Given the description of an element on the screen output the (x, y) to click on. 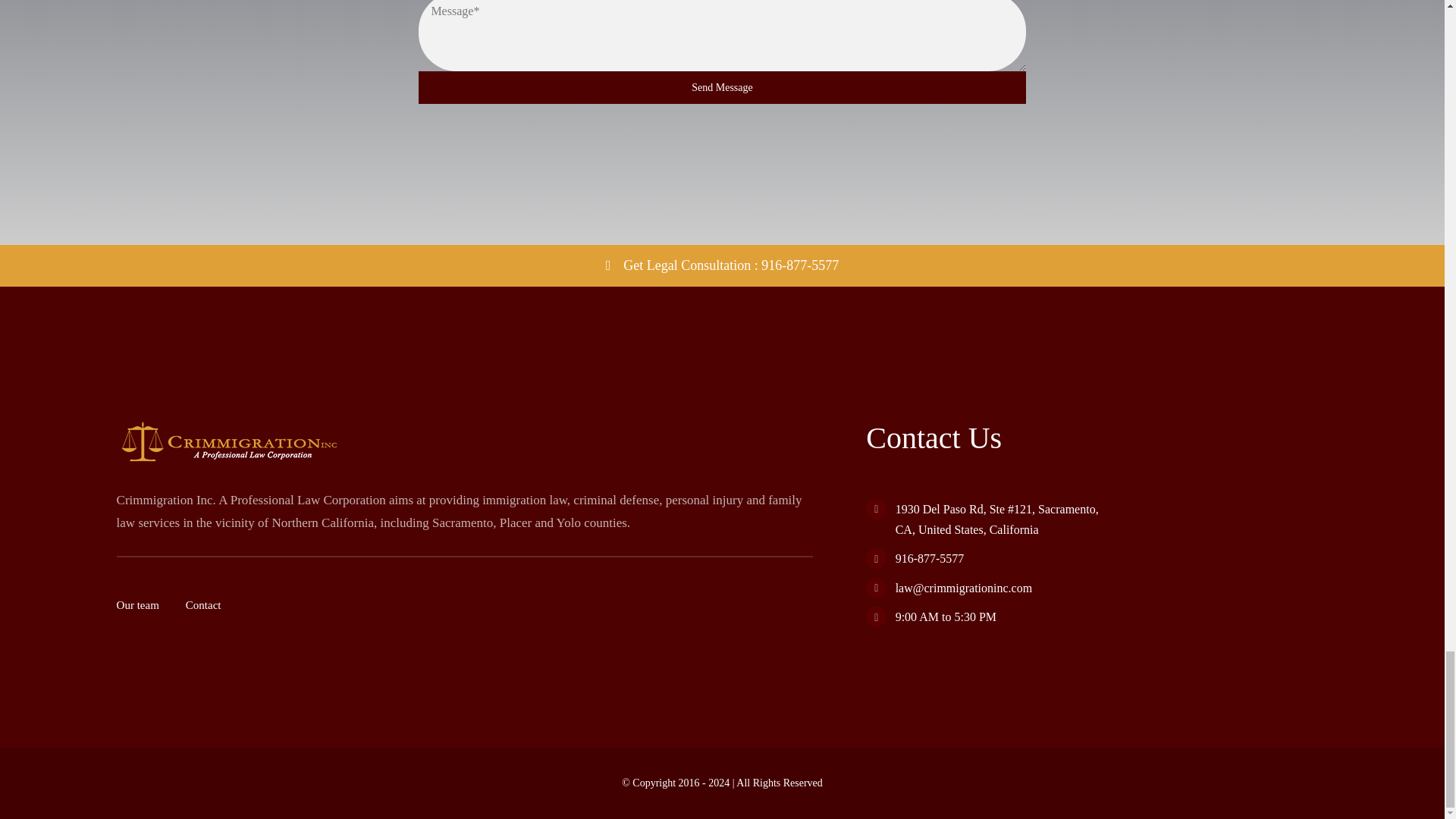
Send Message (722, 87)
Send Message (722, 52)
